Given the description of an element on the screen output the (x, y) to click on. 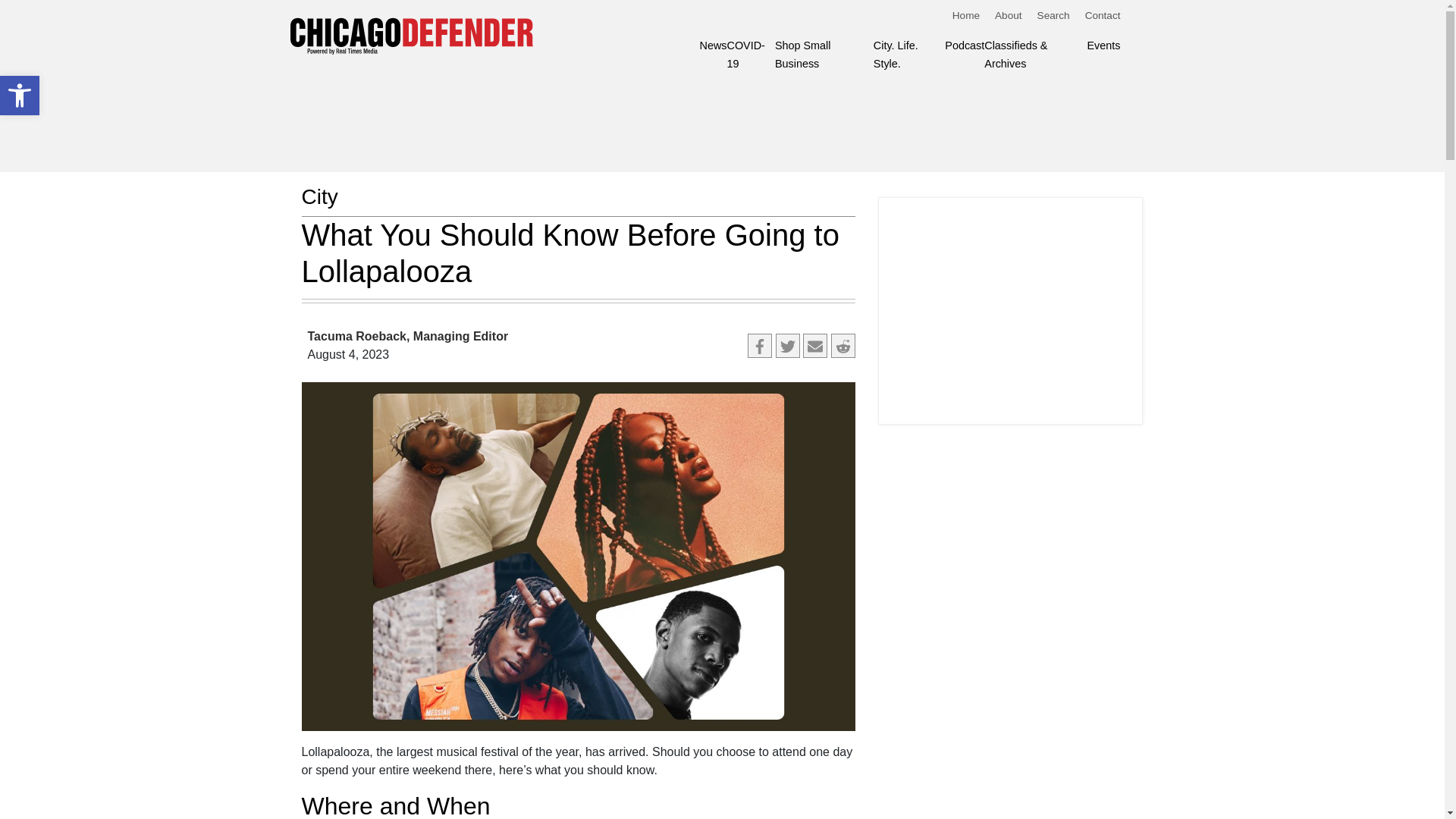
About (1008, 14)
3rd party ad content (1011, 310)
Shop Small Business (19, 95)
COVID-19 (823, 54)
Share to Reddit (750, 54)
What You Should Know Before Going to Lollapalooza (843, 345)
News (1053, 14)
Share to Email (712, 45)
3rd party ad content (815, 345)
Accessibility Tools (555, 114)
Share to Twitter (19, 95)
Accessibility Tools (787, 345)
Home (19, 95)
